Given the description of an element on the screen output the (x, y) to click on. 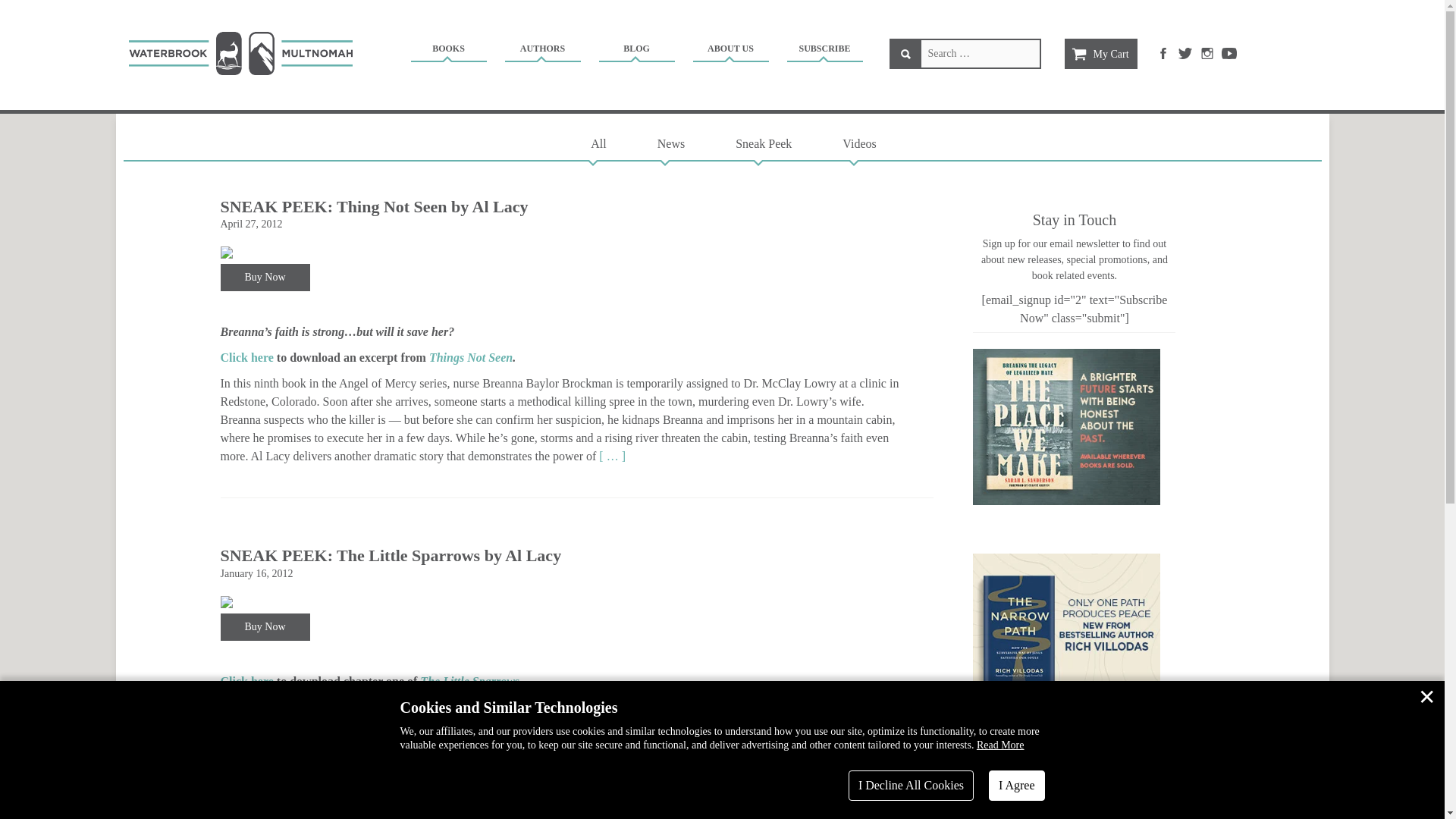
News (671, 143)
ABOUT US (730, 50)
Videos (858, 143)
Sneak Peek (763, 143)
Search (904, 53)
Buy Now (263, 277)
BLOG (636, 50)
Search (904, 53)
My Cart (1100, 53)
All (598, 143)
SNEAK PEEK: Thing Not Seen by Al Lacy (373, 206)
SUBSCRIBE (824, 50)
Search (904, 53)
BOOKS (448, 50)
AUTHORS (542, 50)
